Given the description of an element on the screen output the (x, y) to click on. 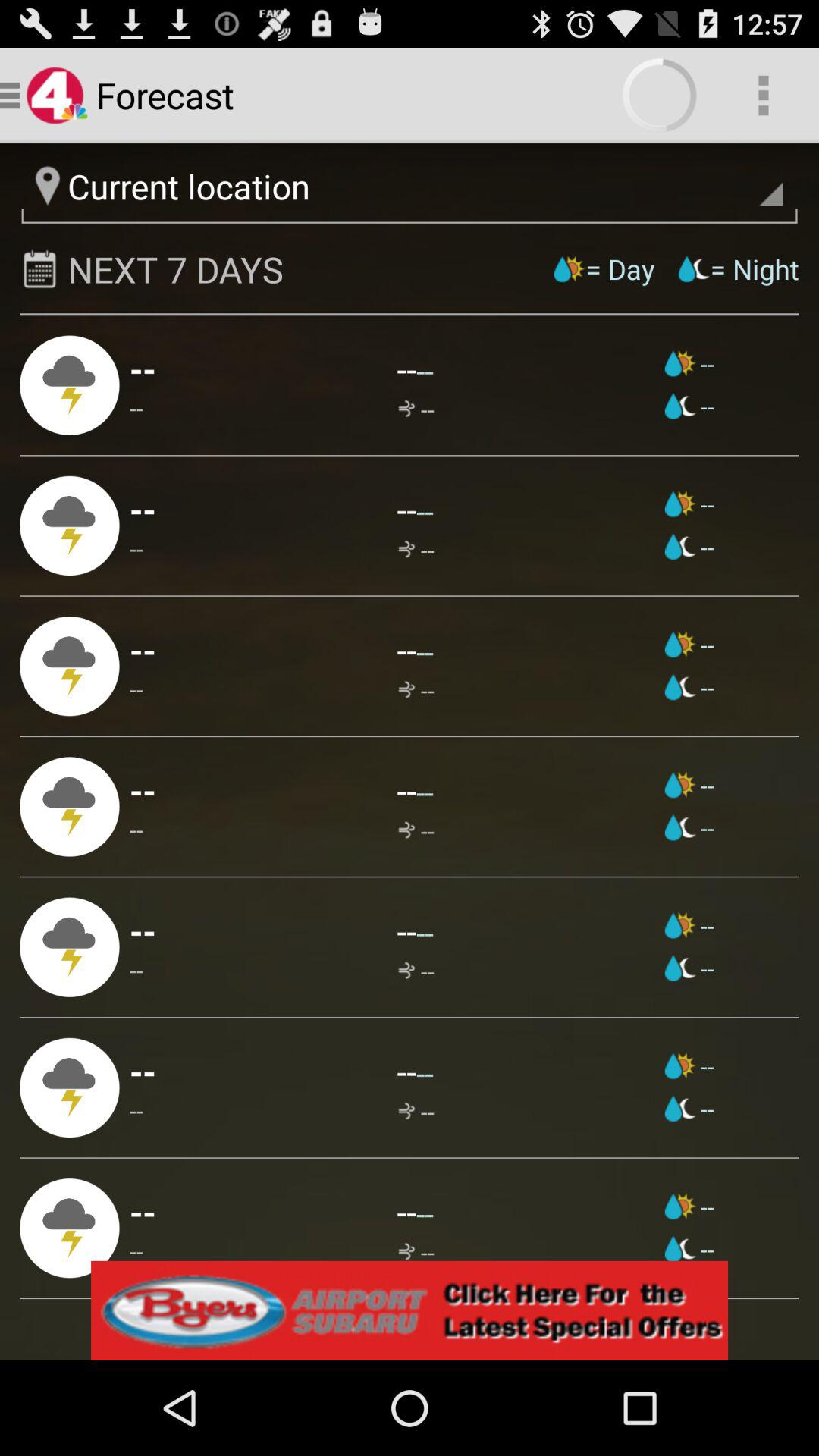
click the icon below the -- app (142, 930)
